Given the description of an element on the screen output the (x, y) to click on. 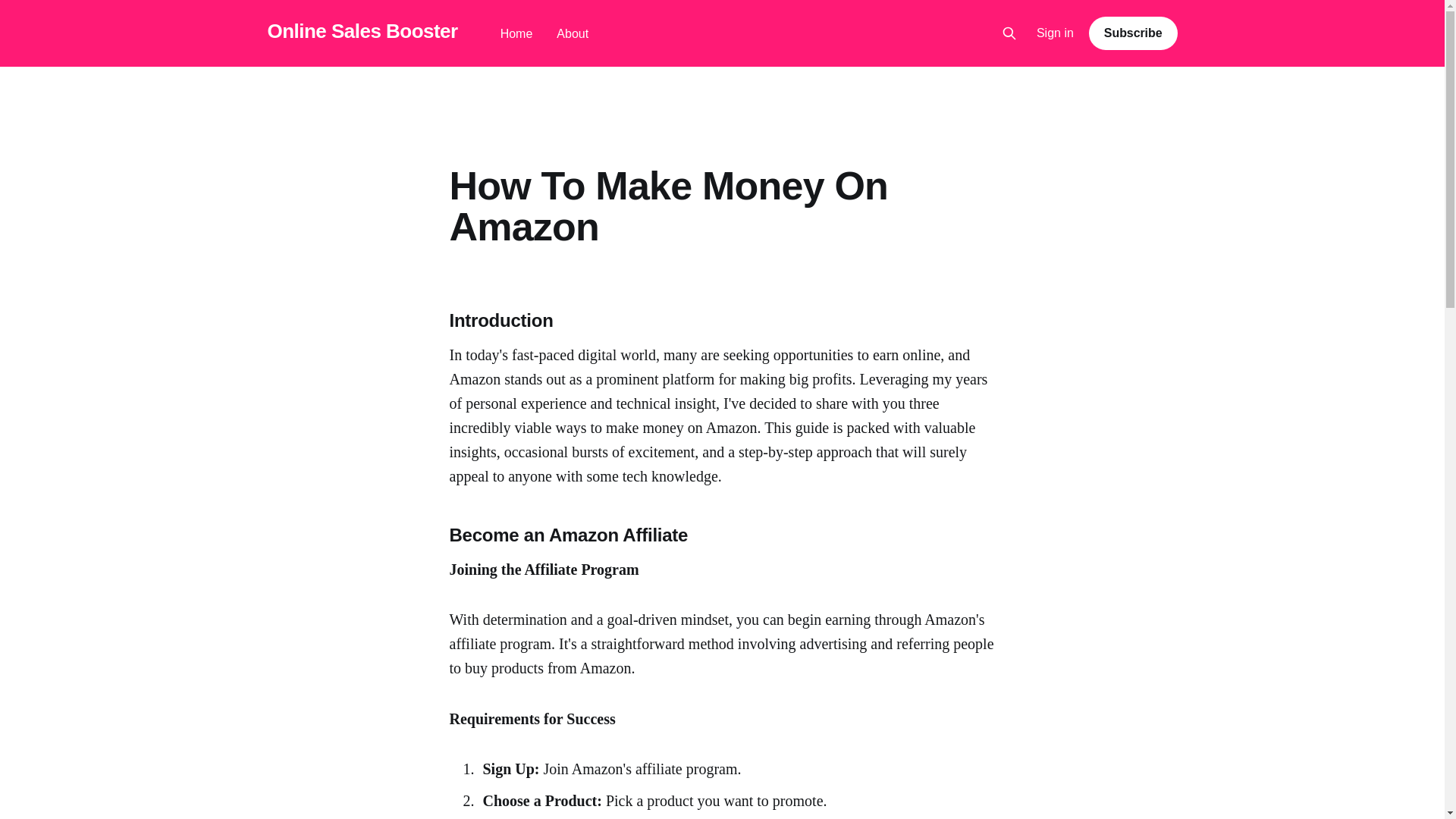
Home (516, 33)
Sign in (1055, 33)
Subscribe (1133, 32)
Online Sales Booster (361, 31)
About (572, 33)
